Given the description of an element on the screen output the (x, y) to click on. 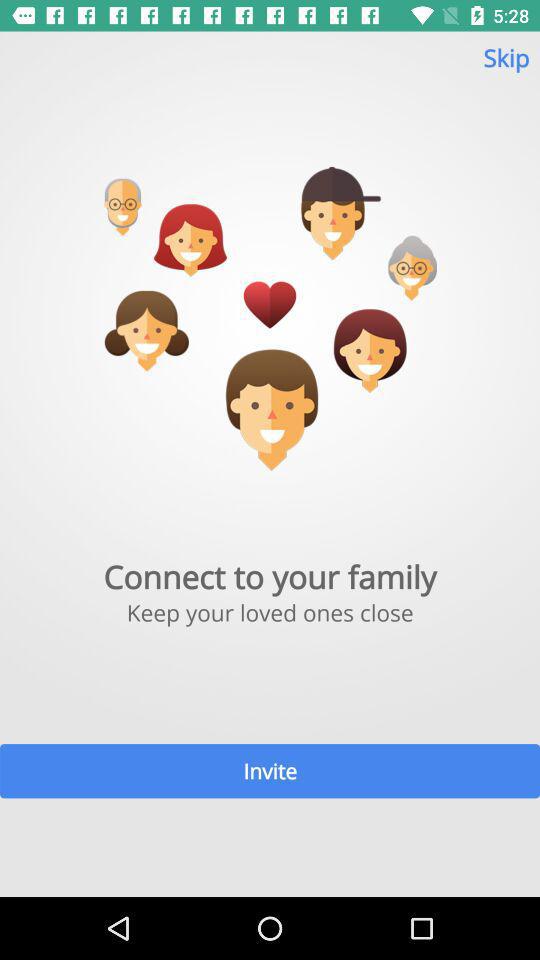
select the skip at the top right corner (506, 66)
